Given the description of an element on the screen output the (x, y) to click on. 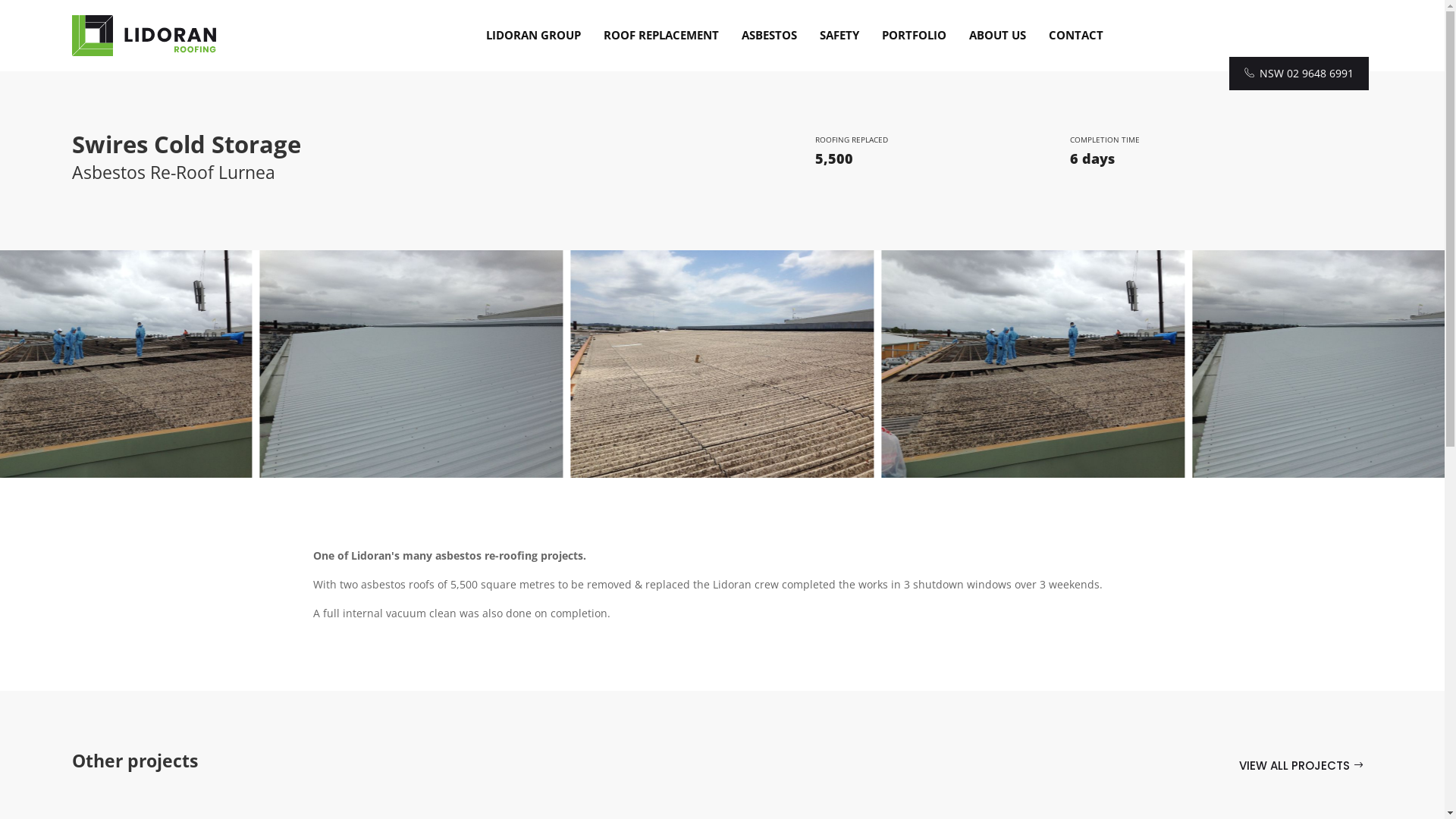
PORTFOLIO Element type: text (913, 34)
Swires Asbestos Removal Lurnea Element type: hover (1033, 363)
Swires Asbestos Removal Lurnea Element type: hover (722, 363)
Swires Asbestos Removal Lurnea Element type: hover (411, 363)
VIEW ALL PROJECTS Element type: text (1301, 765)
ASBESTOS Element type: text (768, 34)
SAFETY Element type: text (839, 34)
CONTACT Element type: text (1075, 34)
NSW 02 9648 6991 Element type: text (1298, 73)
ABOUT US Element type: text (996, 34)
ROOF REPLACEMENT Element type: text (660, 34)
LIDORAN GROUP Element type: text (533, 34)
